Given the description of an element on the screen output the (x, y) to click on. 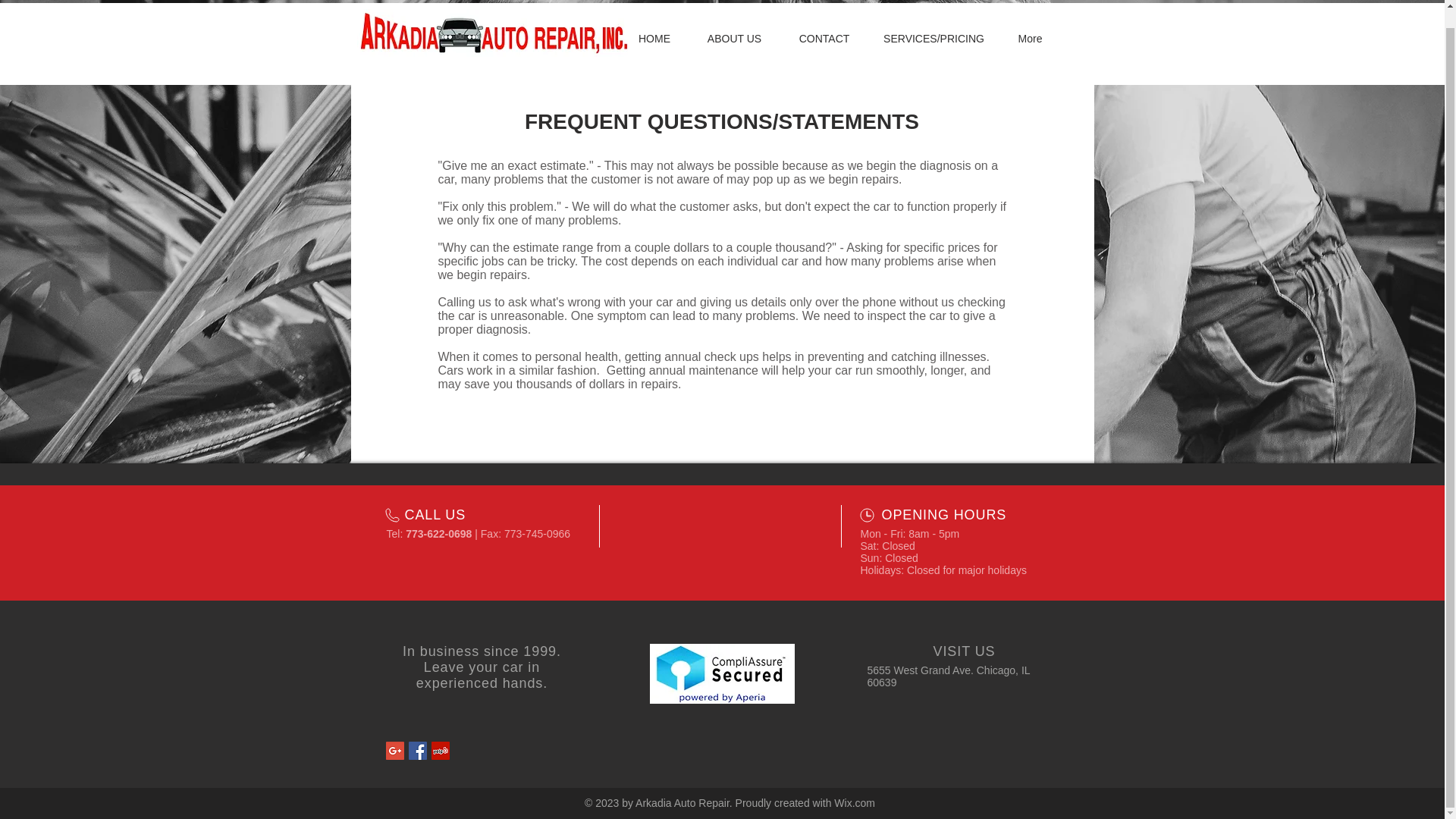
HOME (654, 38)
ABOUT US (733, 38)
CONTACT (822, 38)
Wix.com (854, 802)
